Given the description of an element on the screen output the (x, y) to click on. 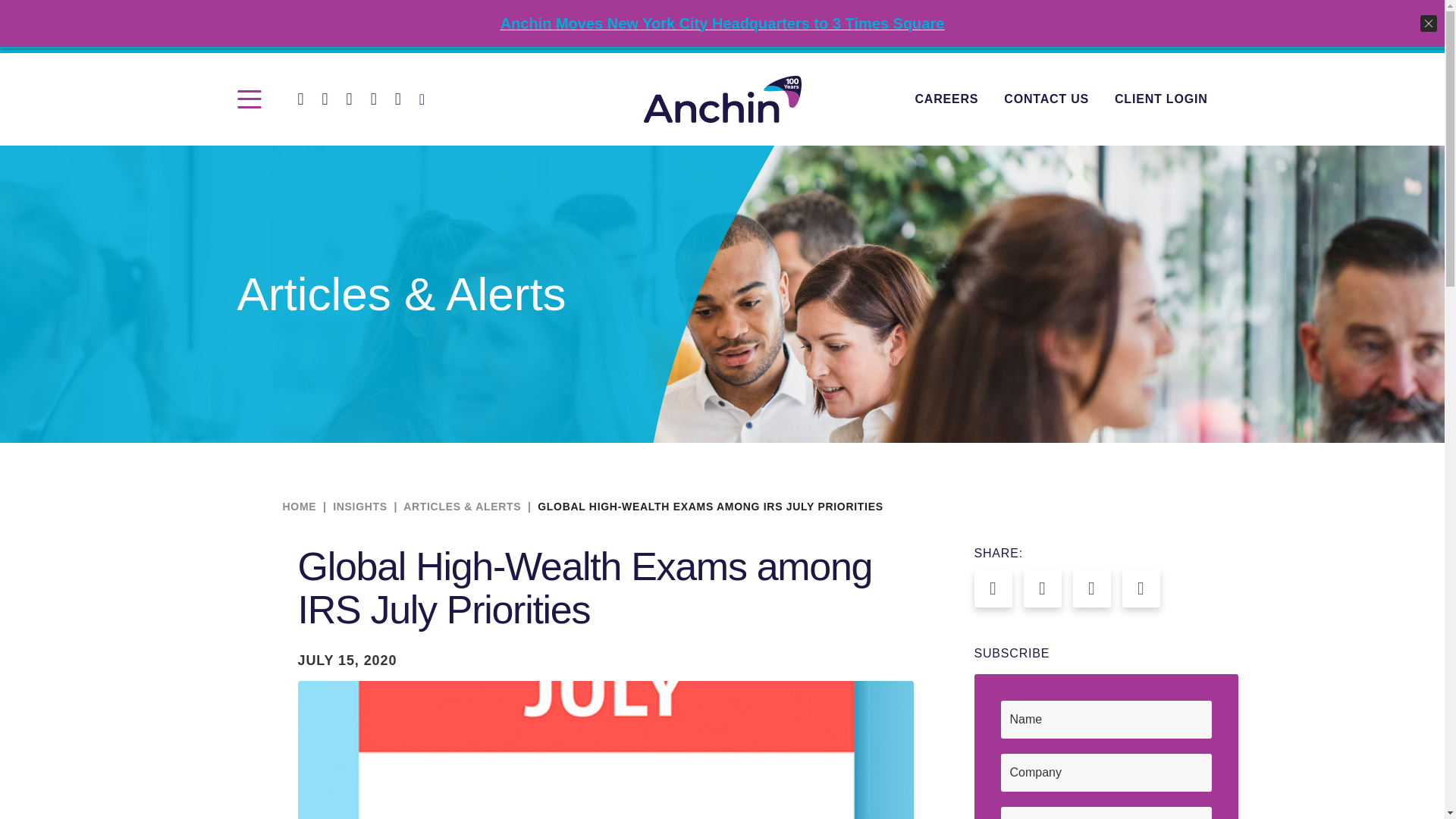
CONTACT US (1046, 98)
CAREERS (946, 98)
CLIENT LOGIN (1161, 98)
